Given the description of an element on the screen output the (x, y) to click on. 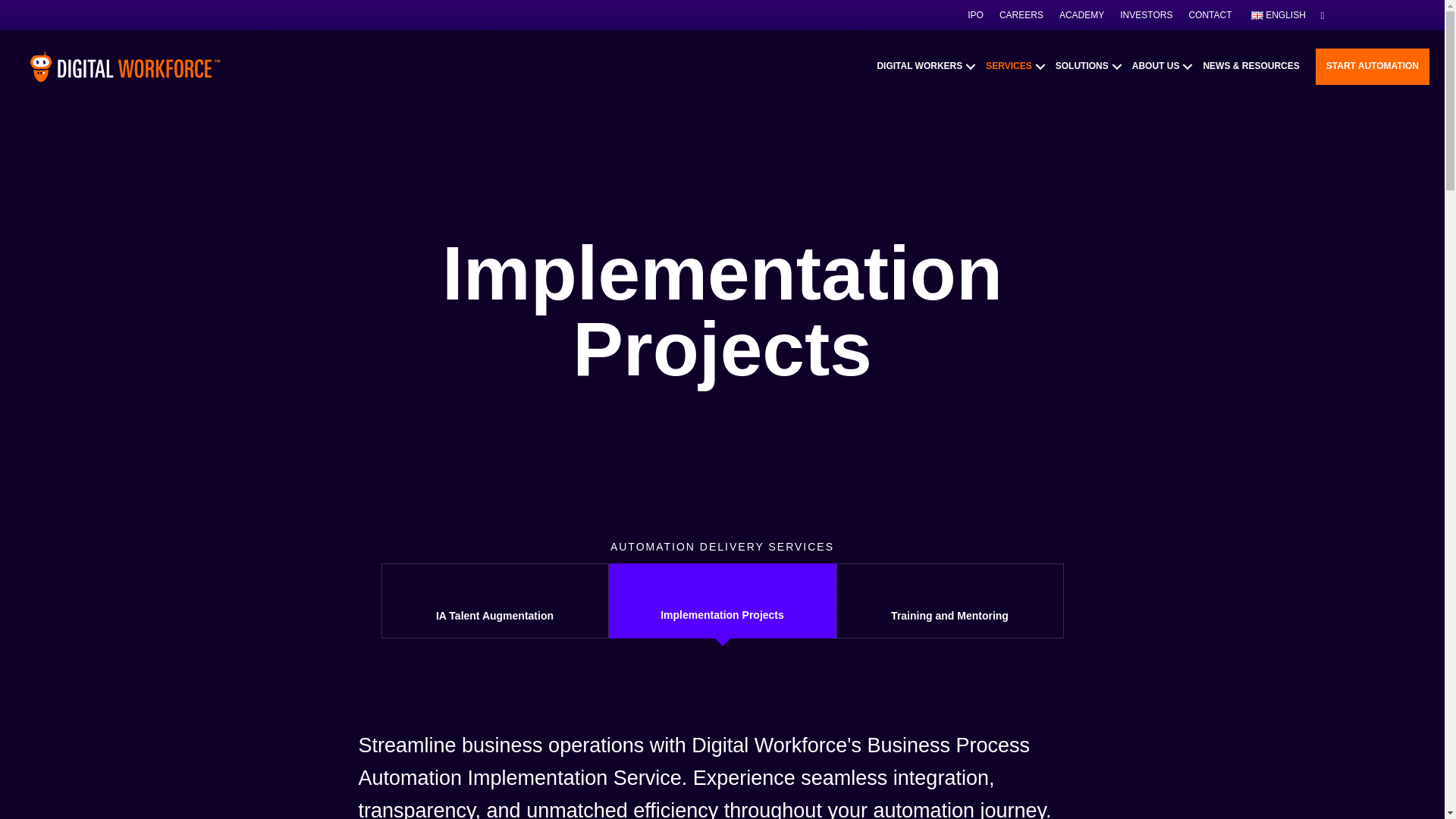
DIGITAL WORKERS (924, 65)
ACADEMY (1081, 15)
digital-workforce-logo-nega (124, 66)
CONTACT (1209, 15)
INVESTORS (1145, 15)
AD02 (722, 589)
IPO (975, 15)
ENGLISH (1278, 15)
AD03 (949, 590)
SERVICES (1013, 65)
